Given the description of an element on the screen output the (x, y) to click on. 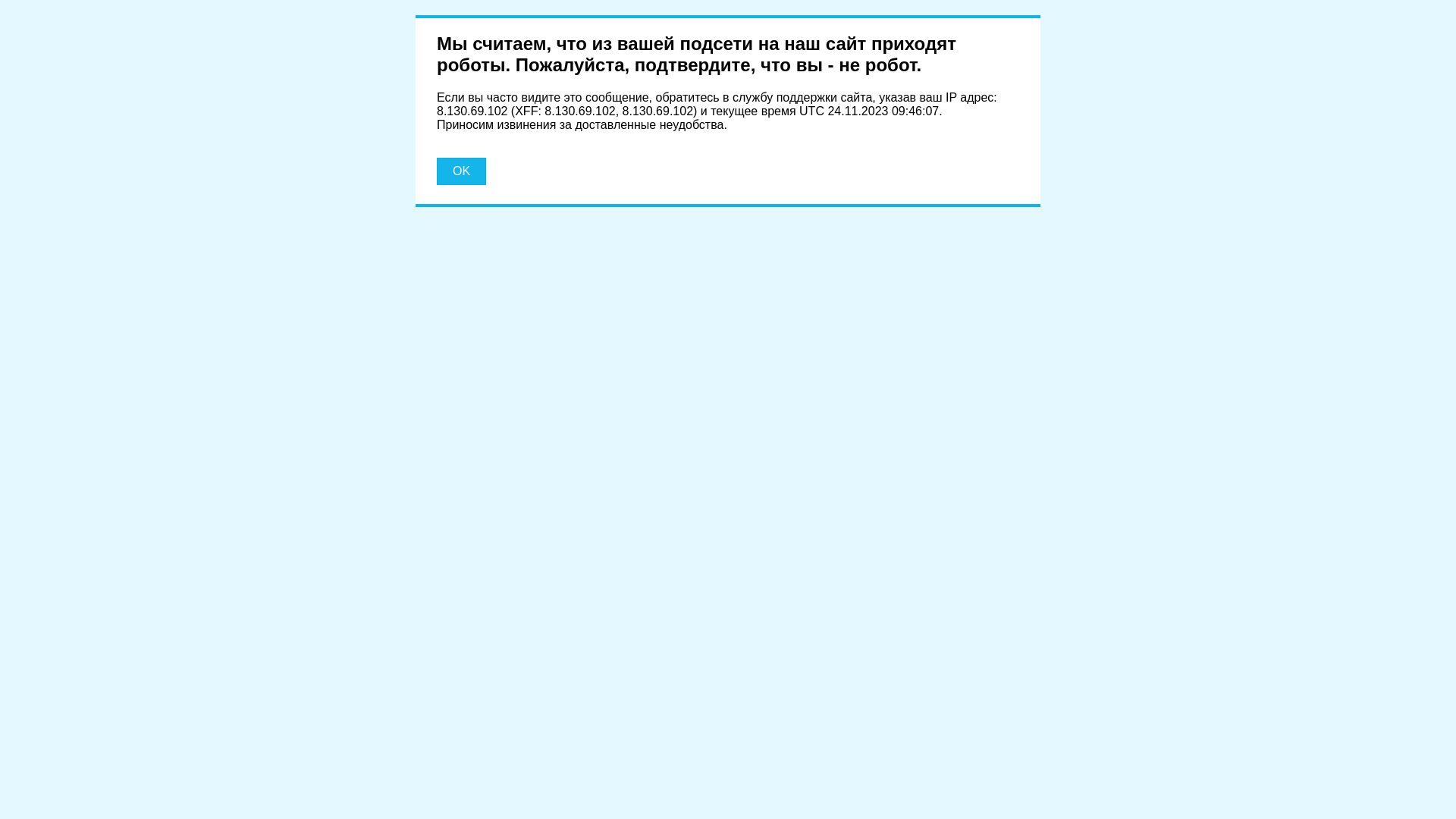
OK Element type: text (461, 171)
